Given the description of an element on the screen output the (x, y) to click on. 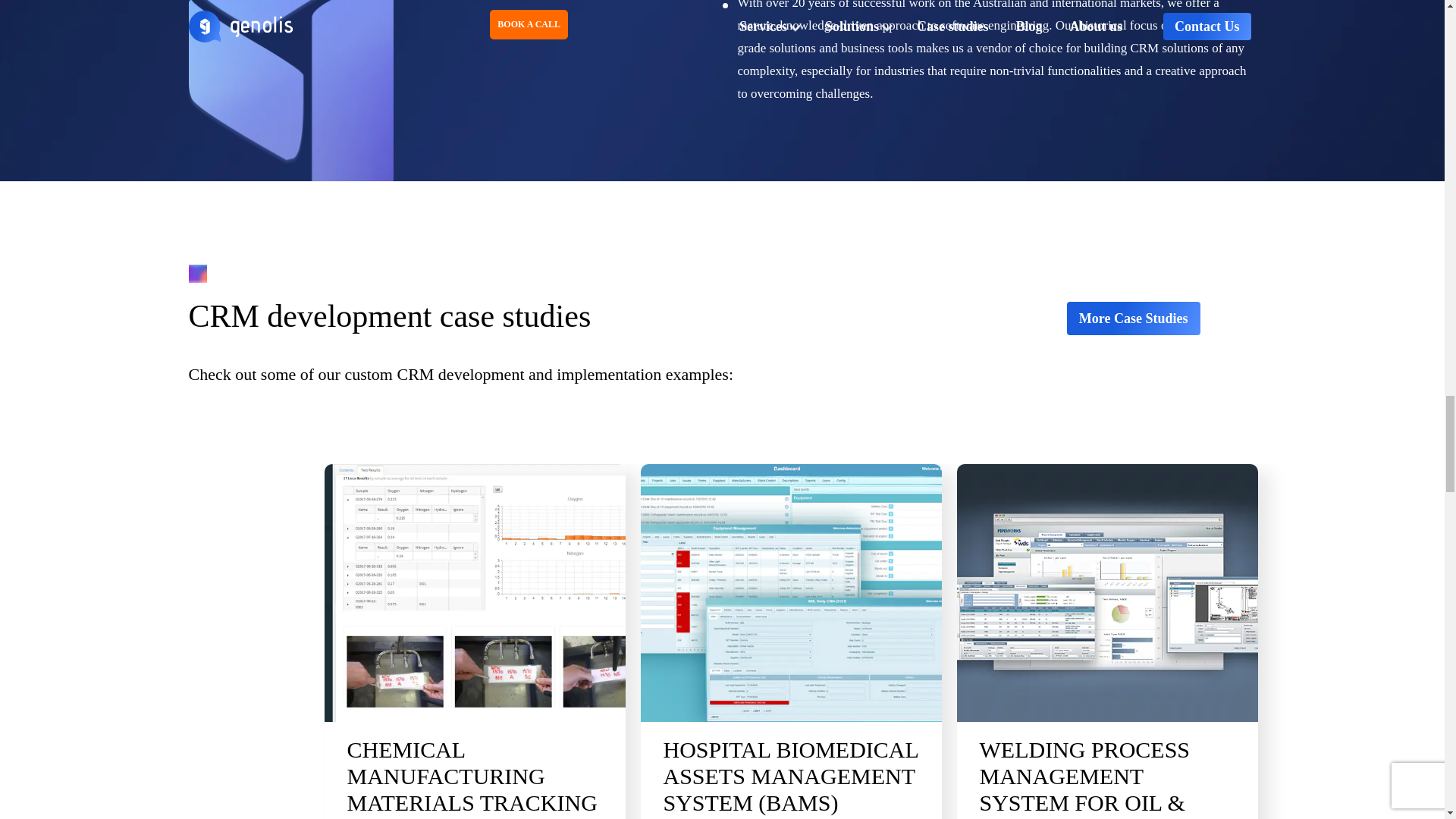
More Case Studies (1133, 318)
